Given the description of an element on the screen output the (x, y) to click on. 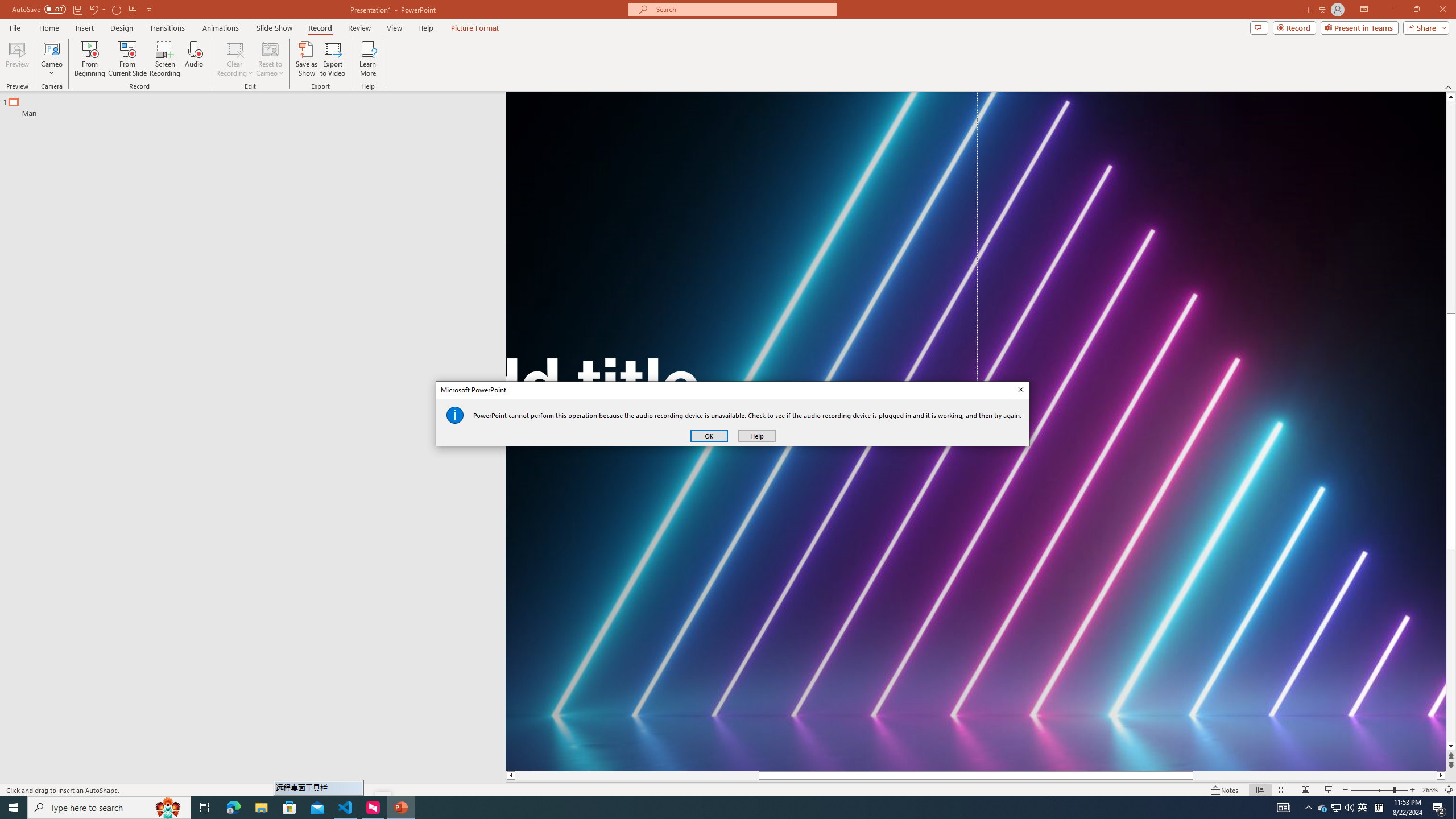
OK (709, 435)
